Given the description of an element on the screen output the (x, y) to click on. 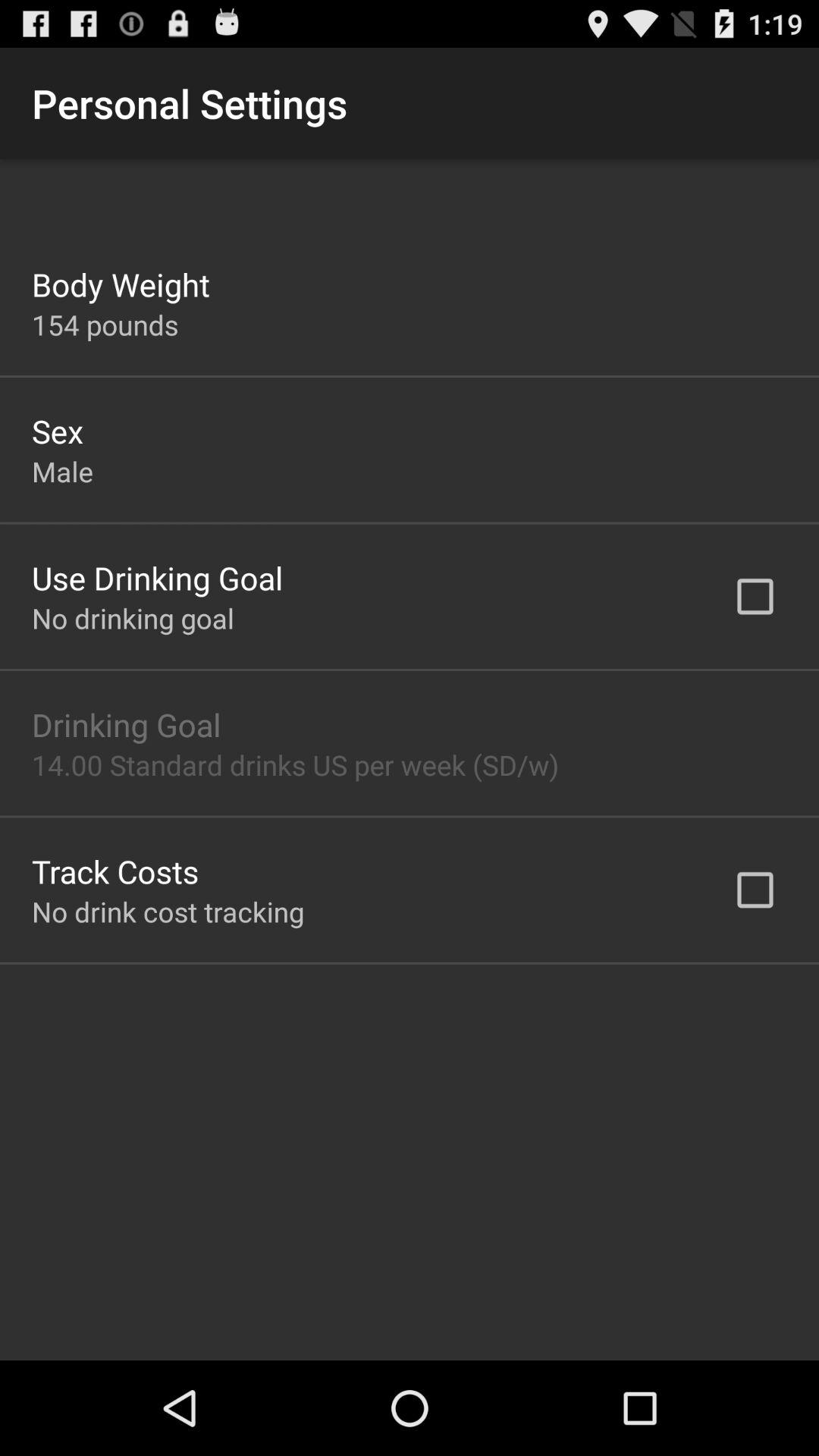
press the app above use drinking goal (62, 471)
